Given the description of an element on the screen output the (x, y) to click on. 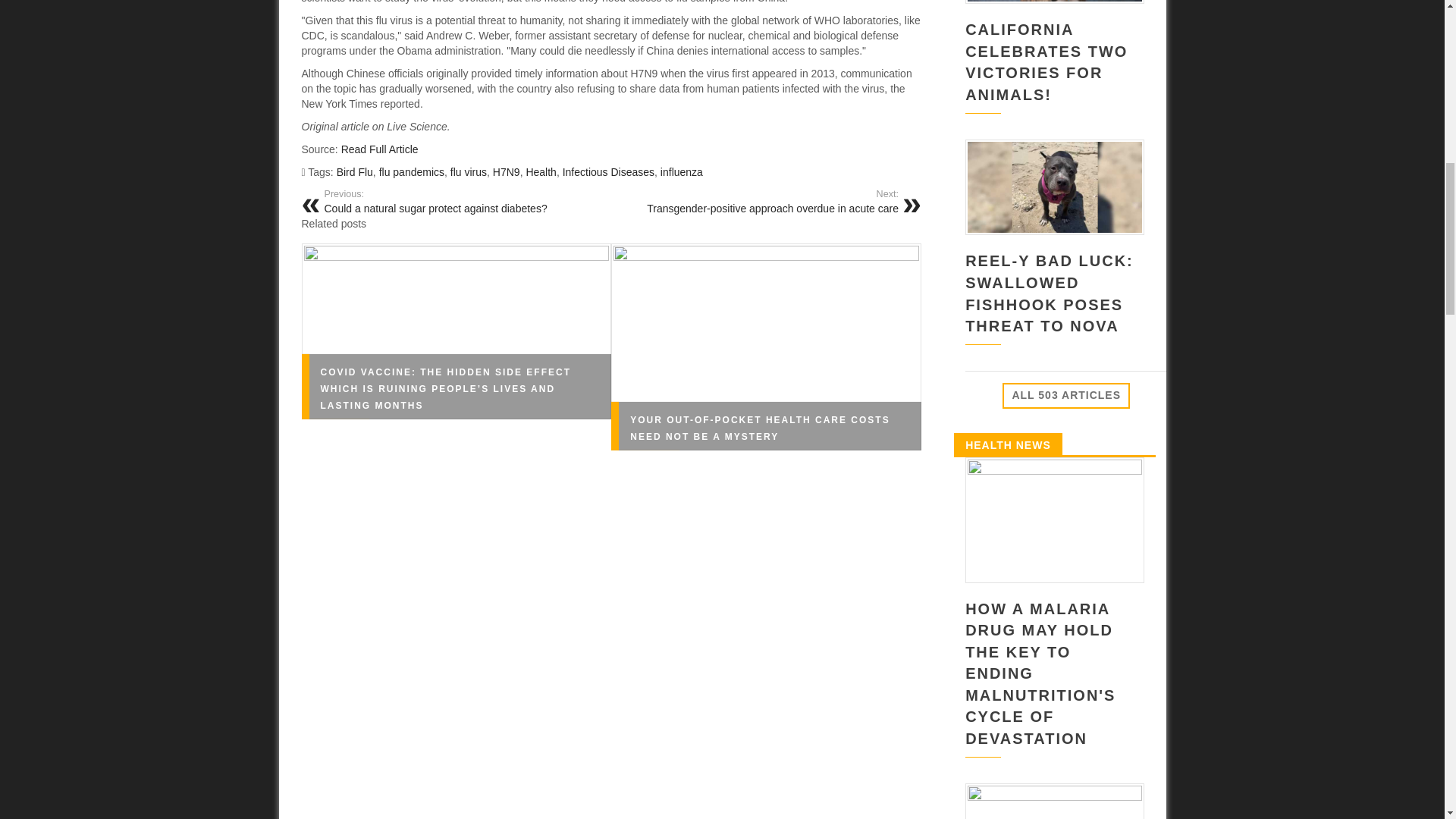
Read Full Article (379, 149)
CALIFORNIA CELEBRATES TWO VICTORIES FOR ANIMALS! (1045, 62)
H7N9 (506, 172)
influenza (682, 172)
flu pandemics (411, 172)
REEL-Y BAD LUCK: SWALLOWED FISHHOOK POSES THREAT TO NOVA (1049, 293)
Your Out-of-Pocket Health Care Costs Need Not Be a Mystery (759, 428)
